Given the description of an element on the screen output the (x, y) to click on. 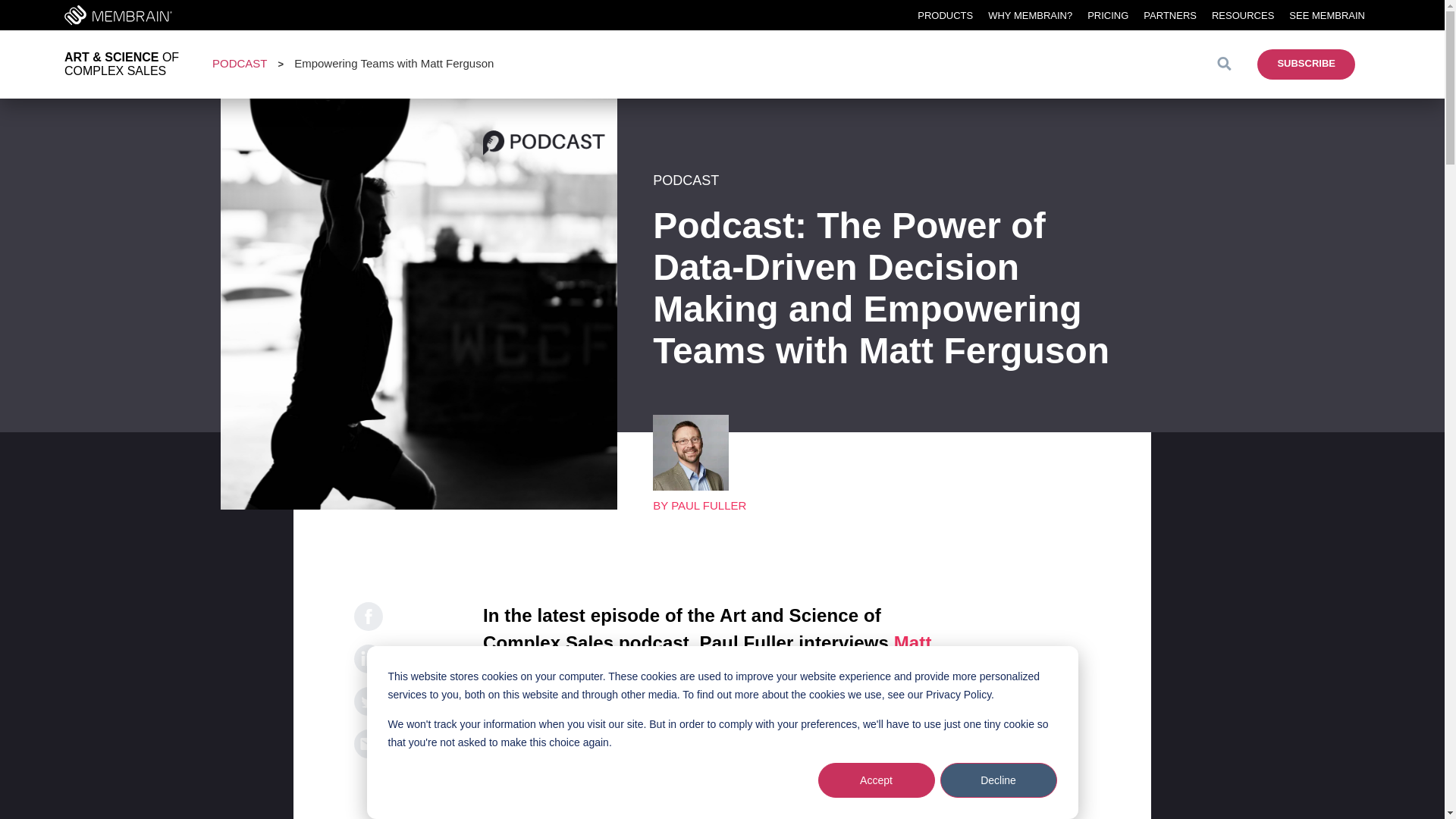
RESOURCES (1242, 14)
PRODUCTS (944, 14)
SEE MEMBRAIN (1326, 14)
PARTNERS (1169, 14)
PRICING (1107, 14)
WHY MEMBRAIN? (1029, 14)
